Given the description of an element on the screen output the (x, y) to click on. 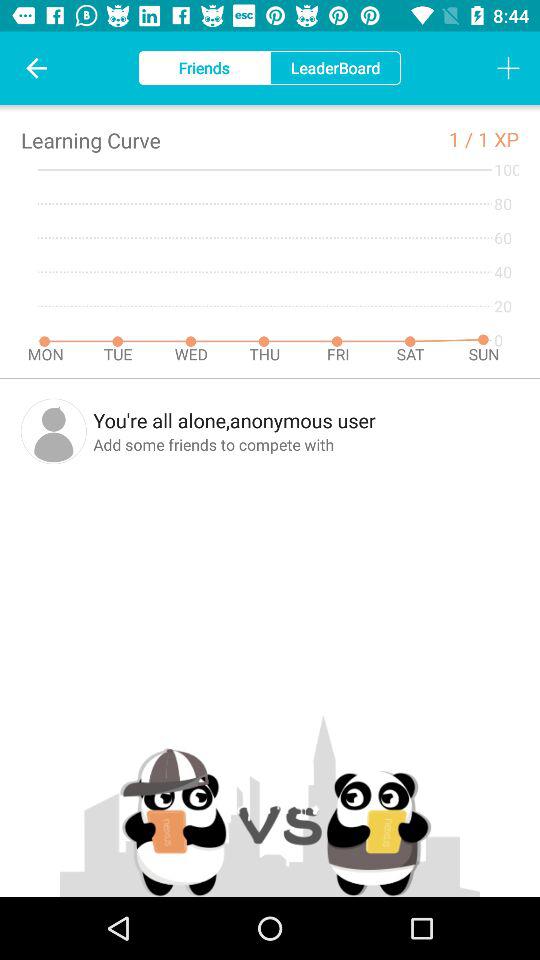
select the item next to the 1 xp item (463, 138)
